Given the description of an element on the screen output the (x, y) to click on. 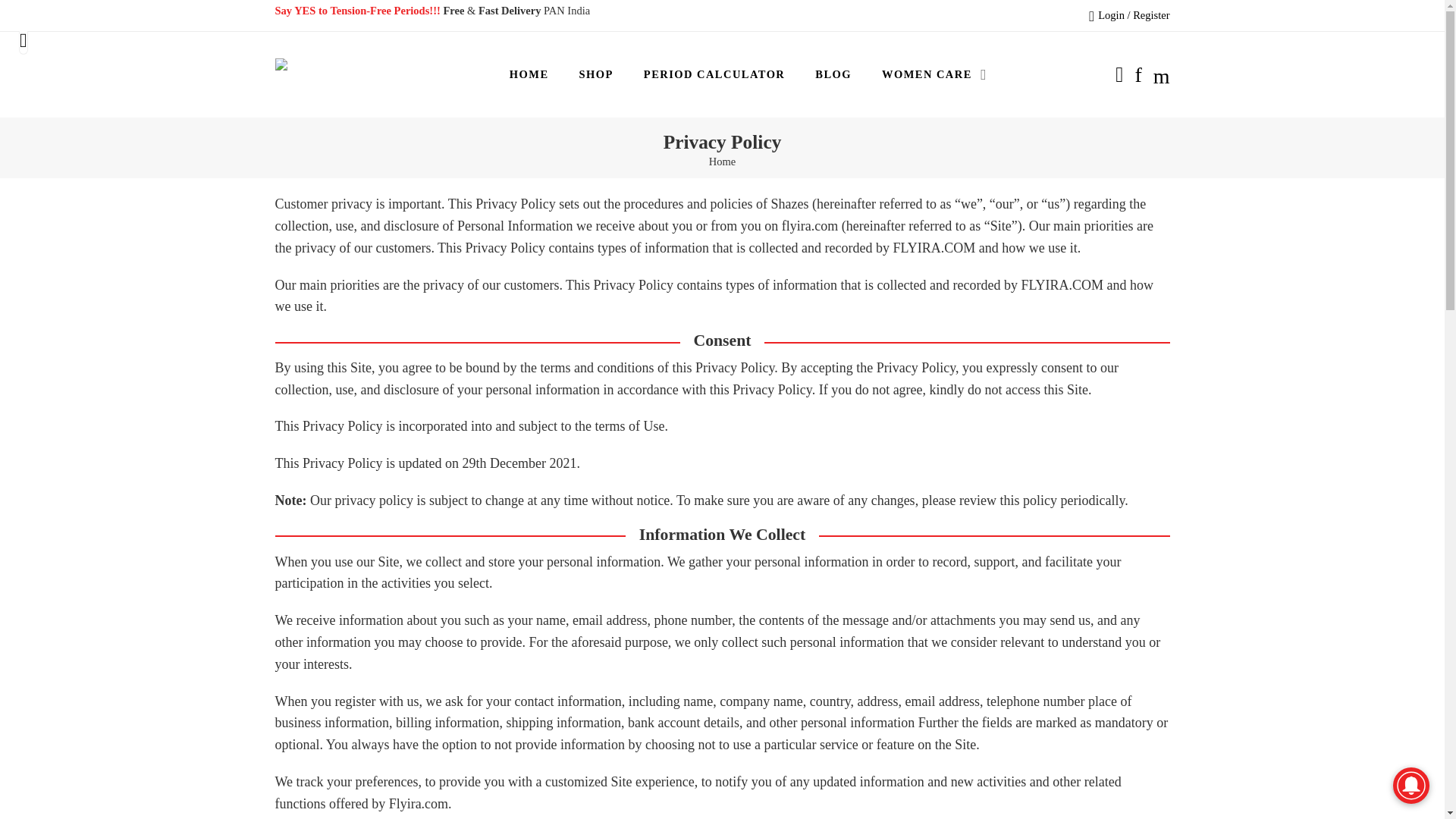
Home (722, 161)
BLOG (833, 74)
HOME (528, 74)
HOME (528, 74)
Flyira - Fly With Confidence (320, 74)
BLOG (833, 74)
WOMEN CARE (927, 74)
PERIOD CALCULATOR (713, 74)
Home (722, 161)
PERIOD CALCULATOR (713, 74)
WOMEN CARE (927, 74)
